Given the description of an element on the screen output the (x, y) to click on. 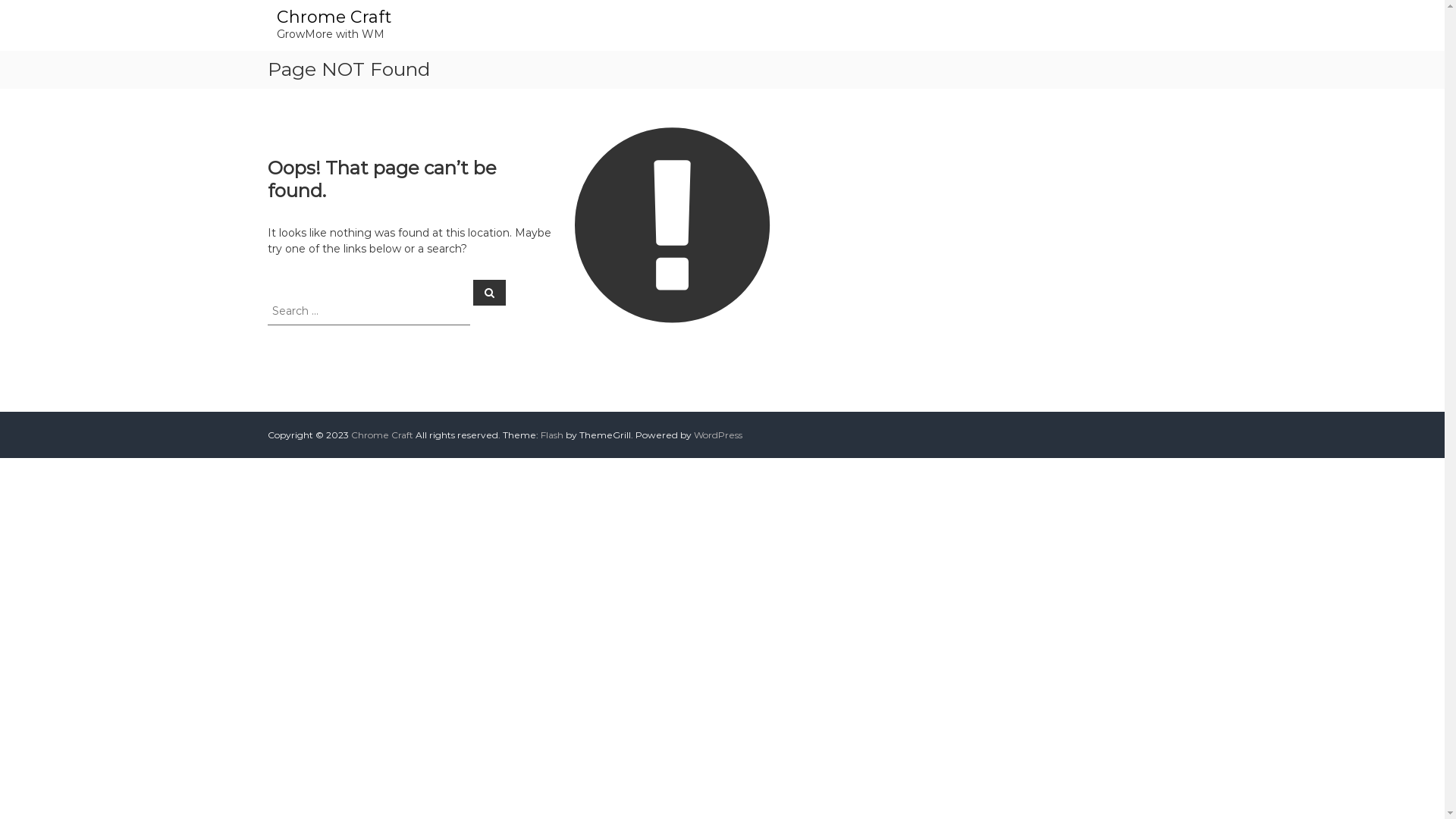
Search Element type: text (489, 291)
WordPress Element type: text (717, 434)
Flash Element type: text (550, 434)
Chrome Craft Element type: text (333, 16)
Chrome Craft Element type: text (381, 434)
